Given the description of an element on the screen output the (x, y) to click on. 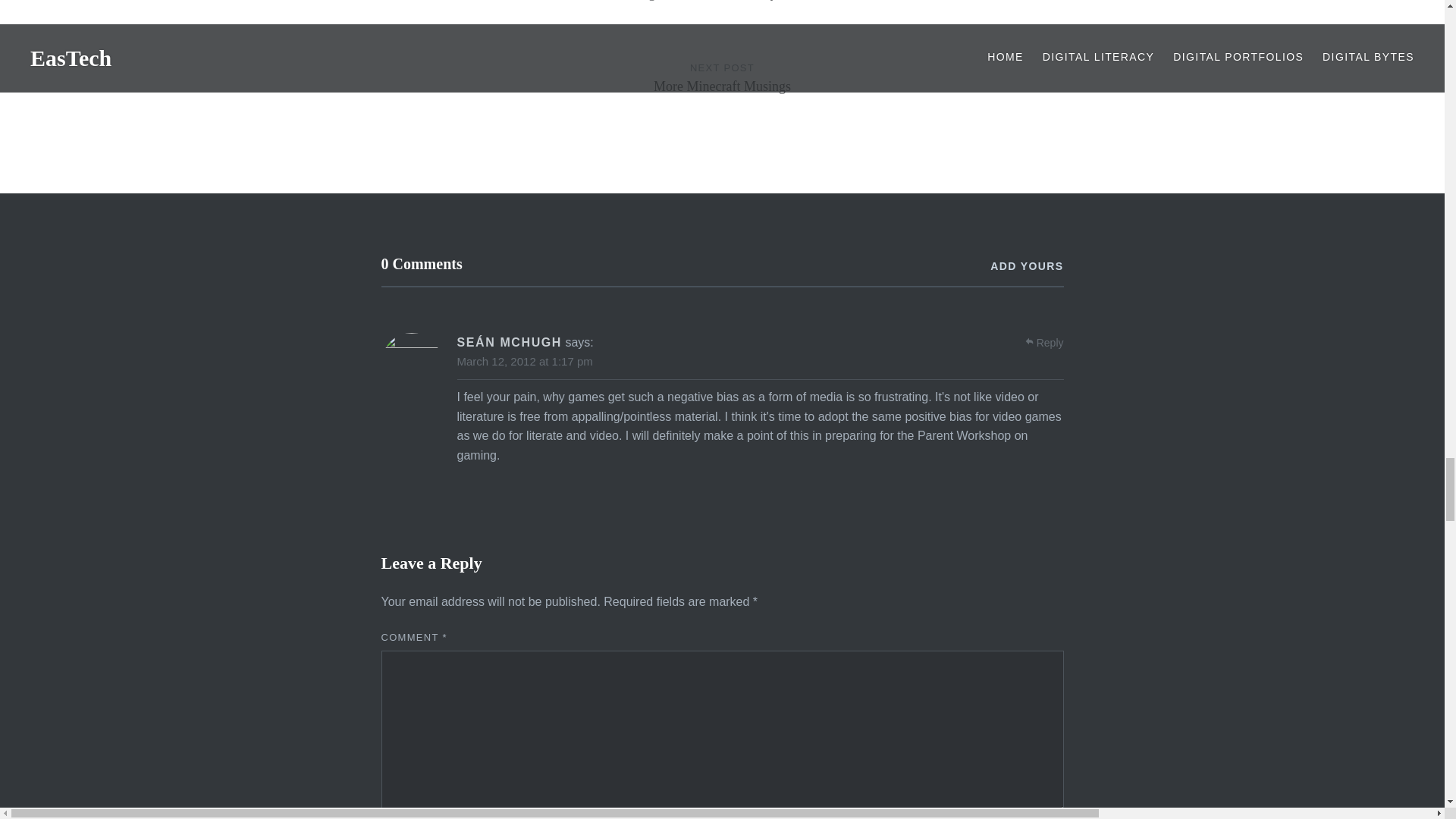
ADD YOURS (1026, 266)
March 12, 2012 at 1:17 pm (722, 92)
